Given the description of an element on the screen output the (x, y) to click on. 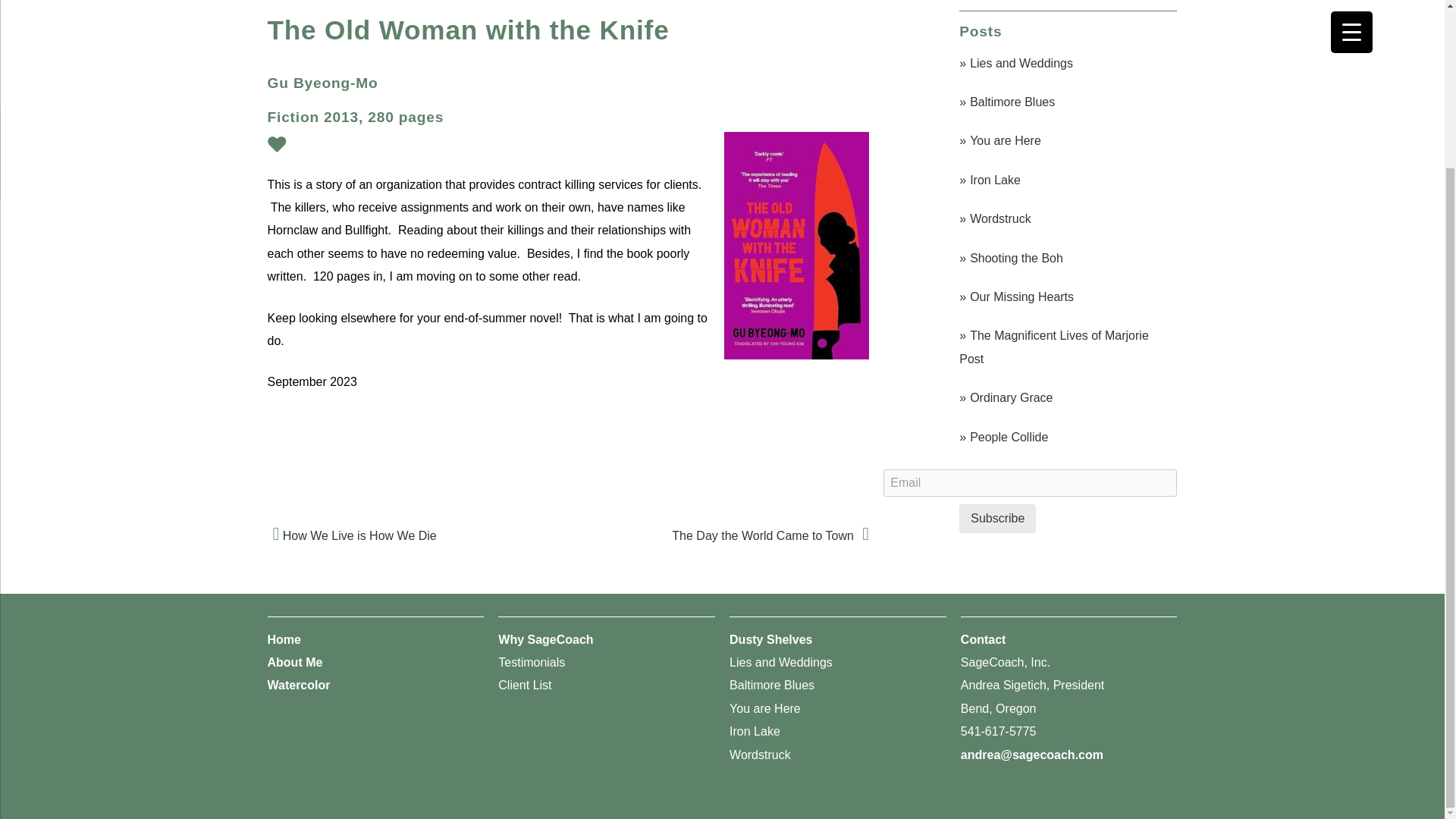
Why SageCoach (544, 639)
Subscribe (997, 518)
Iron Lake (1066, 179)
How We Live is How We Die (350, 535)
Iron Lake (754, 730)
Client List (524, 684)
Baltimore Blues (771, 684)
Watercolor (298, 684)
Baltimore Blues (1066, 101)
Lies and Weddings (780, 662)
